Given the description of an element on the screen output the (x, y) to click on. 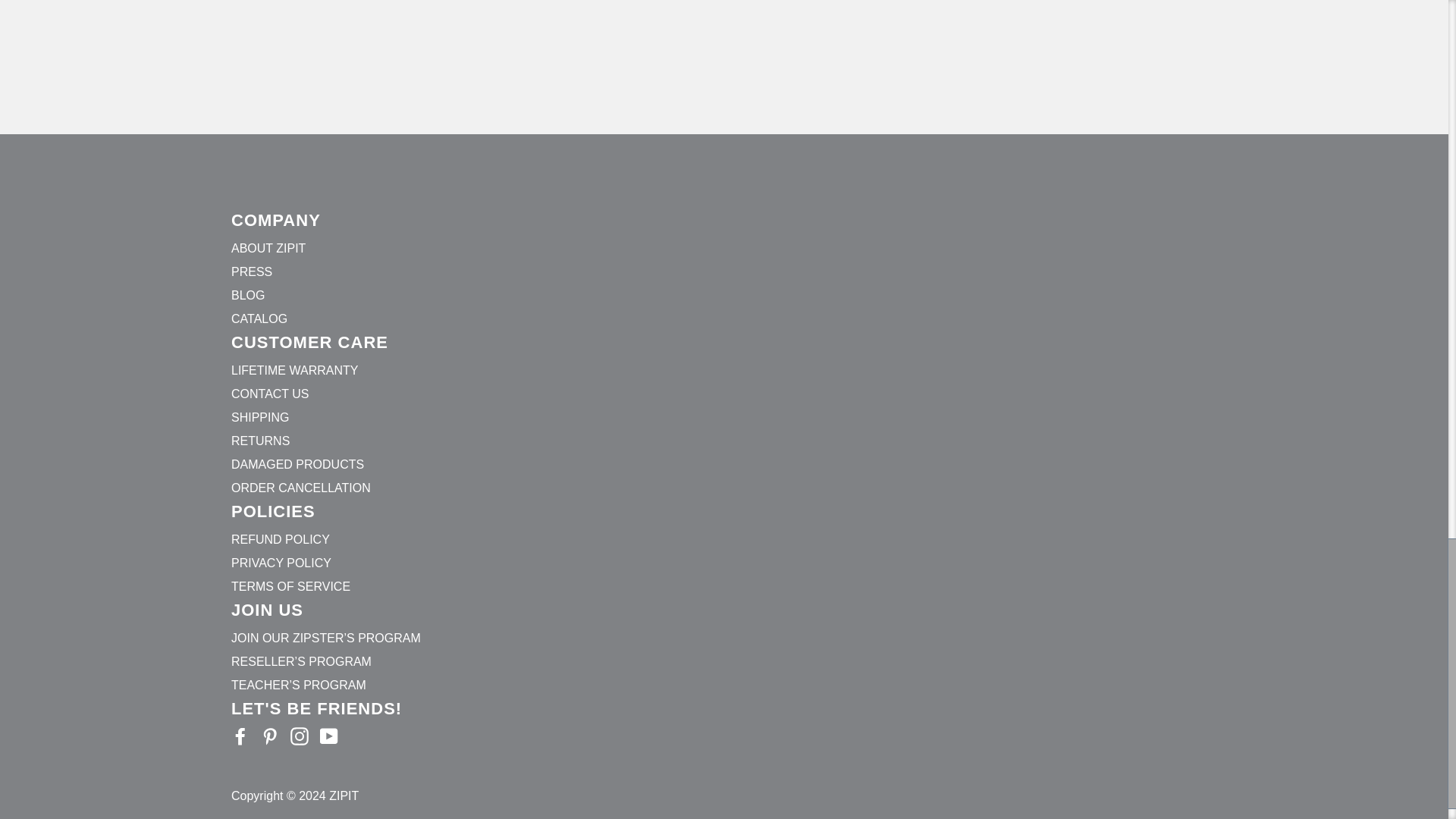
ZIPIT on YouTube (328, 735)
ZIPIT on Facebook (239, 735)
ZIPIT on Pinterest (269, 735)
ZIPIT on Instagram (298, 735)
